Given the description of an element on the screen output the (x, y) to click on. 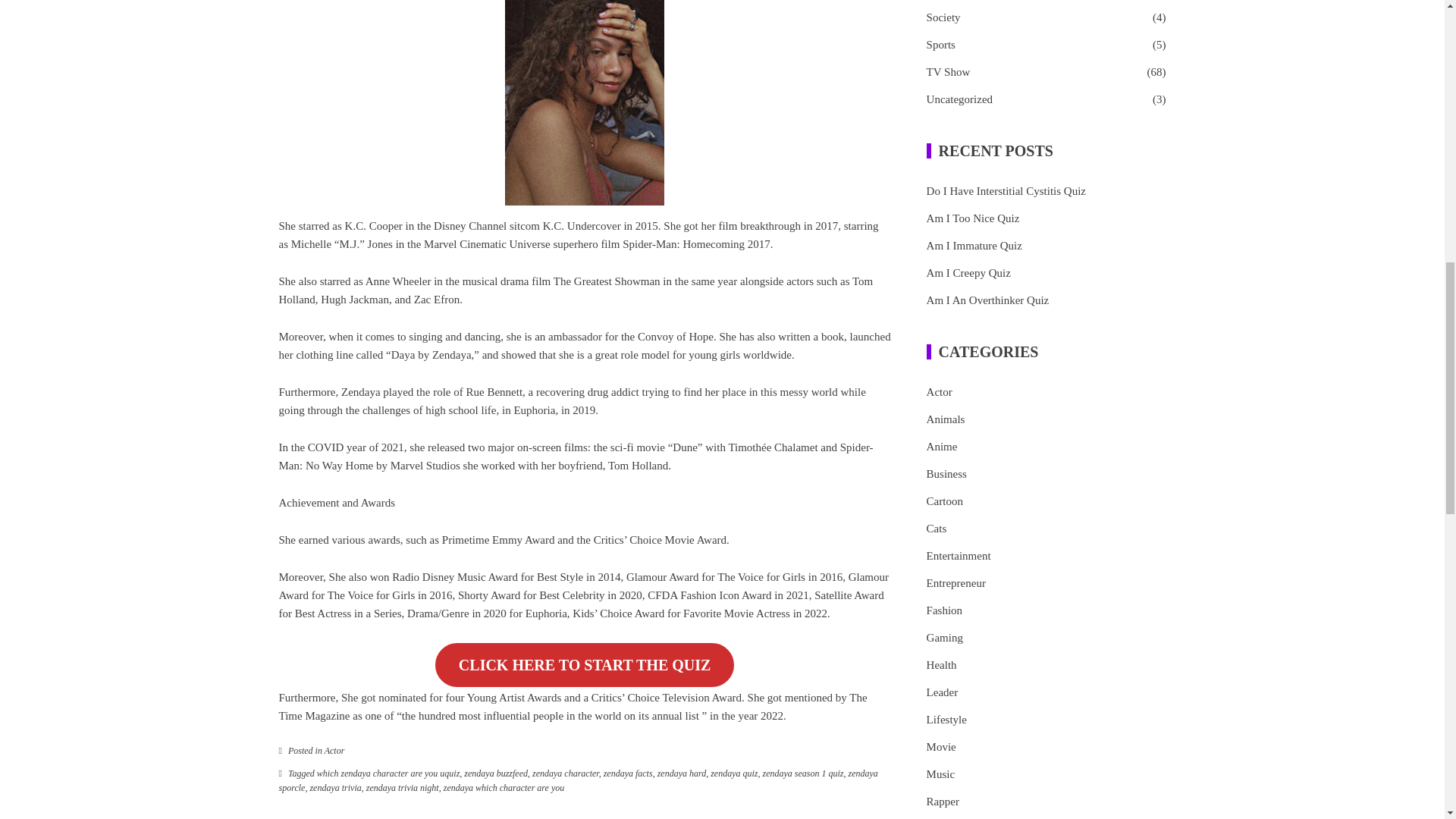
zendaya facts (628, 773)
zendaya season 1 quiz (803, 773)
zendaya which character are you (504, 787)
zendaya buzzfeed (495, 773)
zendaya hard (682, 773)
zendaya trivia (334, 787)
zendaya sporcle (578, 780)
zendaya trivia night (402, 787)
which zendaya character are you uquiz (388, 773)
zendaya quiz (733, 773)
